Given the description of an element on the screen output the (x, y) to click on. 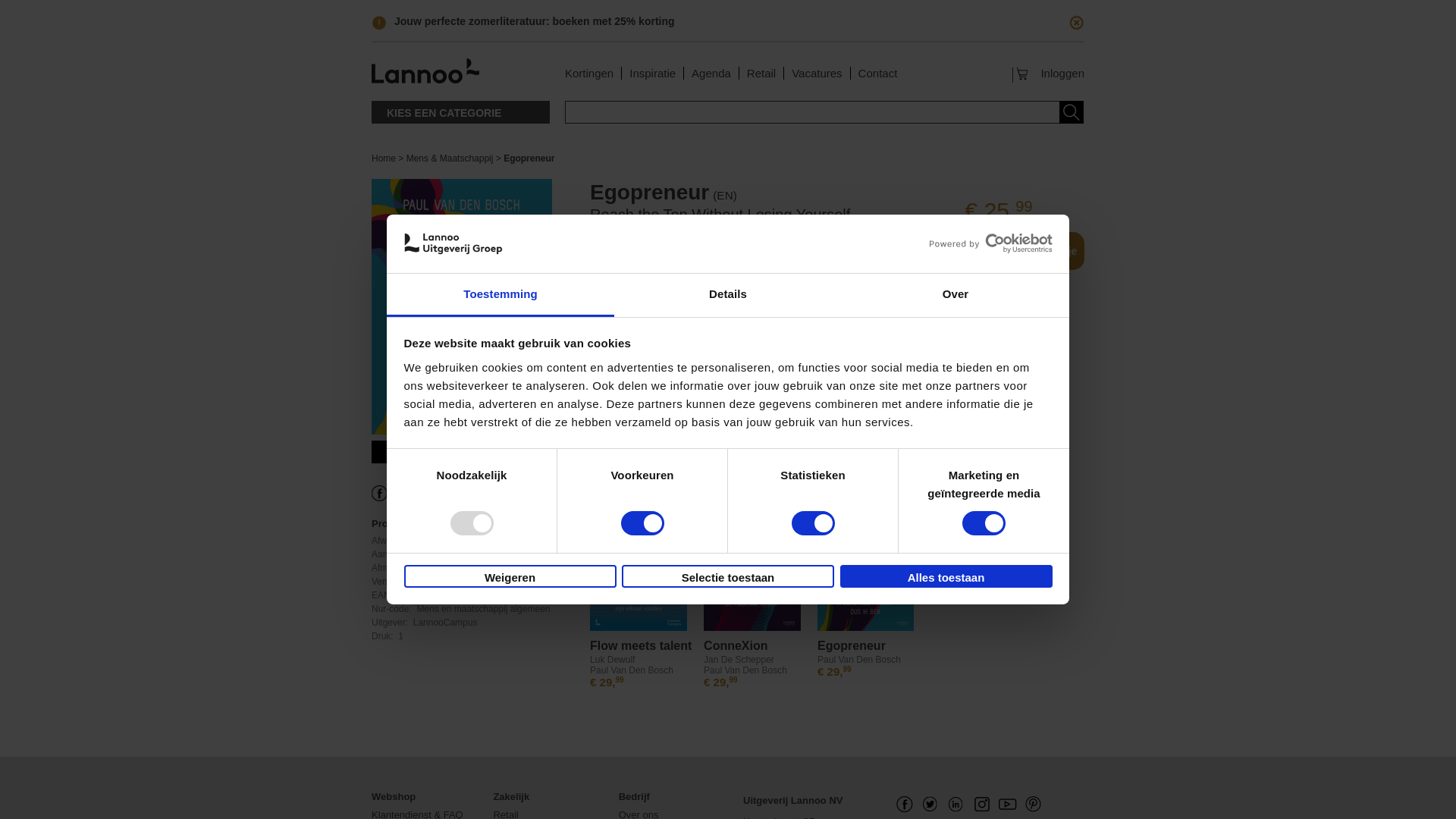
Details (727, 294)
Toestemming (500, 294)
Toepassen (1067, 112)
Over (954, 294)
